Given the description of an element on the screen output the (x, y) to click on. 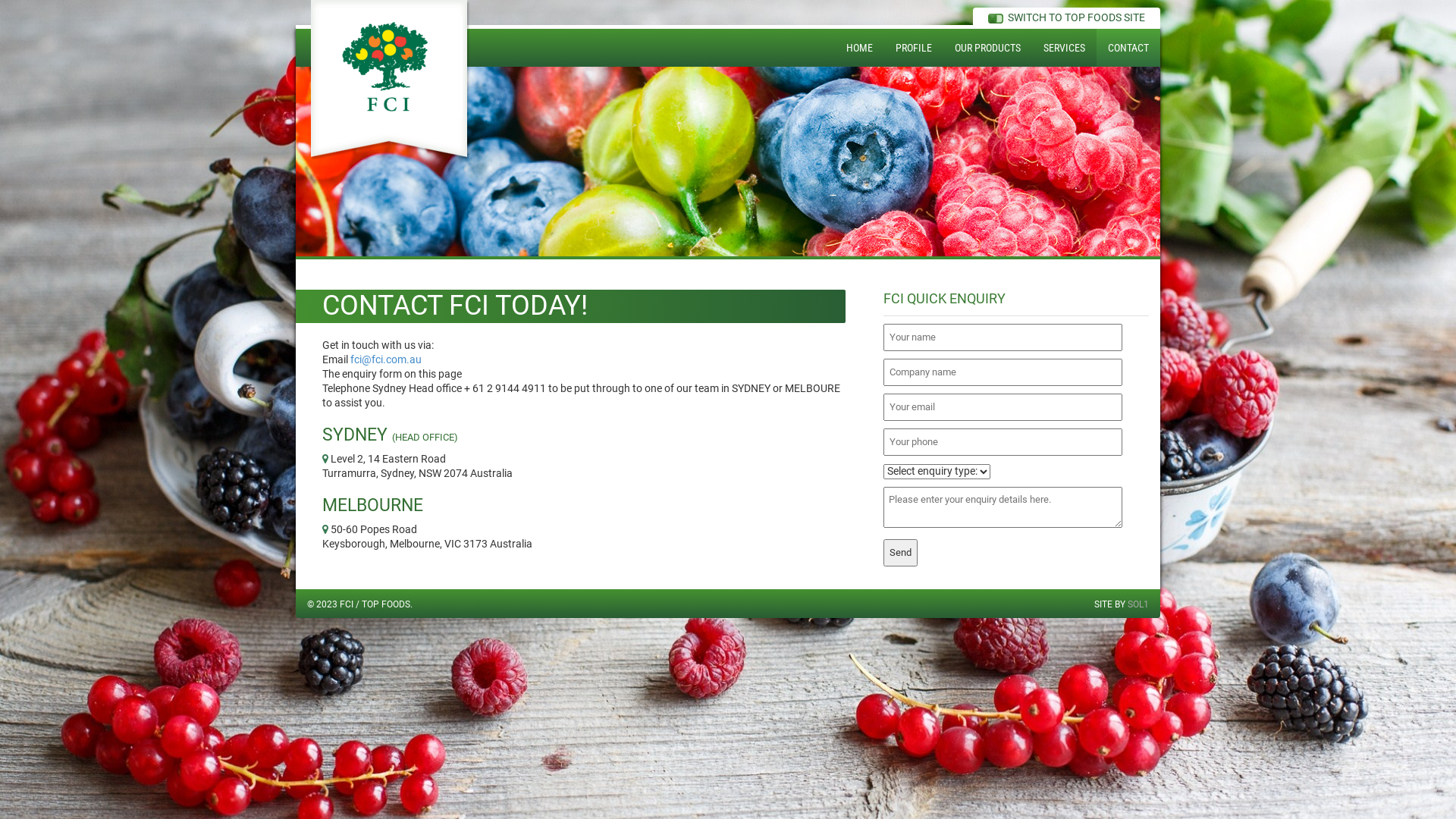
HOME Element type: text (859, 47)
PROFILE Element type: text (913, 47)
fci@fci.com.au Element type: text (385, 359)
CONTACT Element type: text (1128, 47)
SERVICES Element type: text (1064, 47)
  SWITCH TO TOP FOODS SITE Element type: text (1066, 17)
Send Element type: text (900, 551)
OUR PRODUCTS Element type: text (987, 47)
SOL1 Element type: text (1137, 604)
FCI / Top Foods Element type: hover (390, 79)
